Given the description of an element on the screen output the (x, y) to click on. 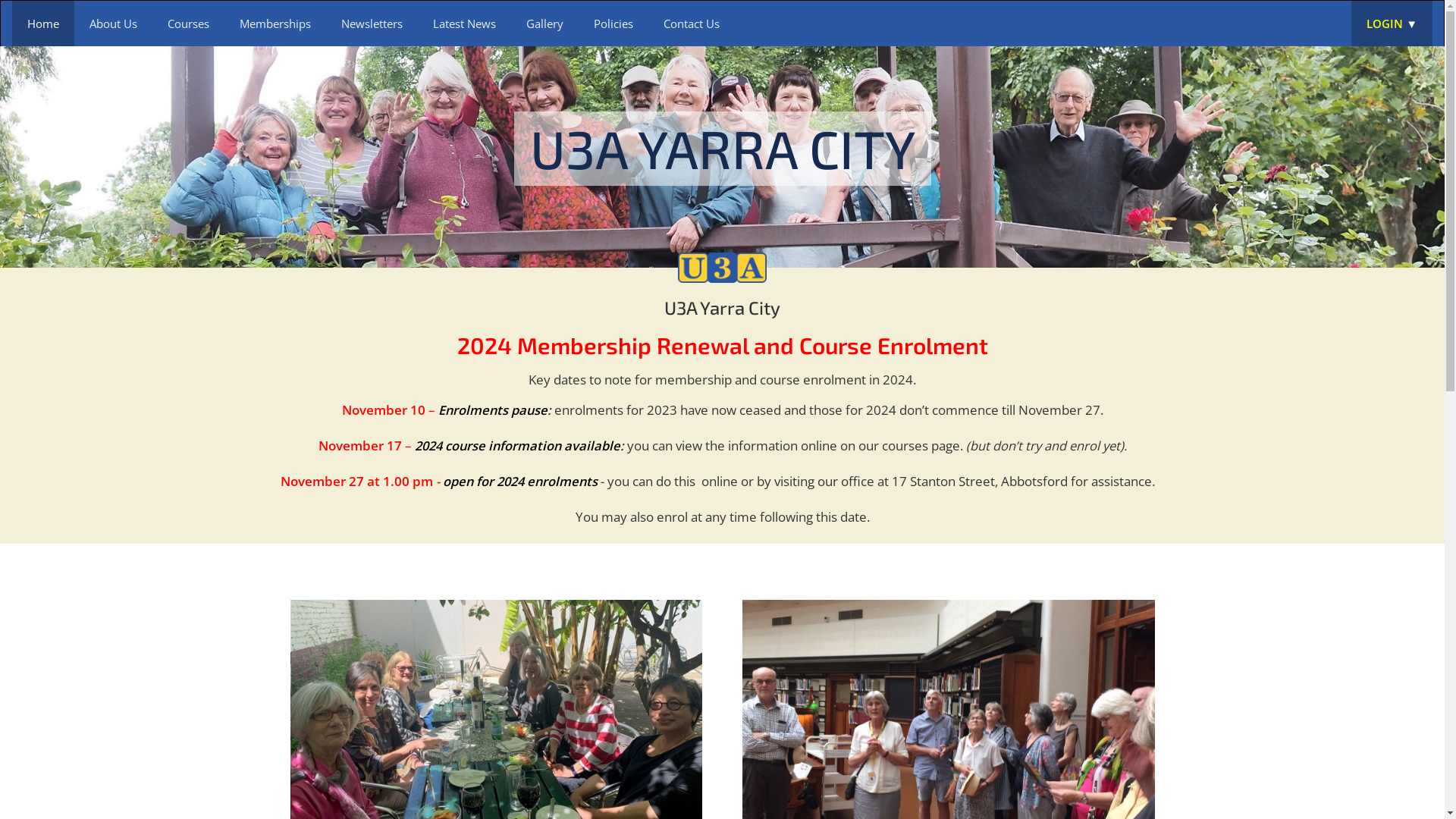
Memberships Element type: text (275, 23)
About Us Element type: text (113, 23)
Contact Us Element type: text (691, 23)
U3A YARRA CITY Element type: text (722, 151)
Latest News Element type: text (464, 23)
Home Element type: text (43, 23)
Gallery Element type: text (544, 23)
Policies Element type: text (613, 23)
Newsletters Element type: text (371, 23)
LOGIN Element type: text (1391, 23)
Courses Element type: text (188, 23)
